Given the description of an element on the screen output the (x, y) to click on. 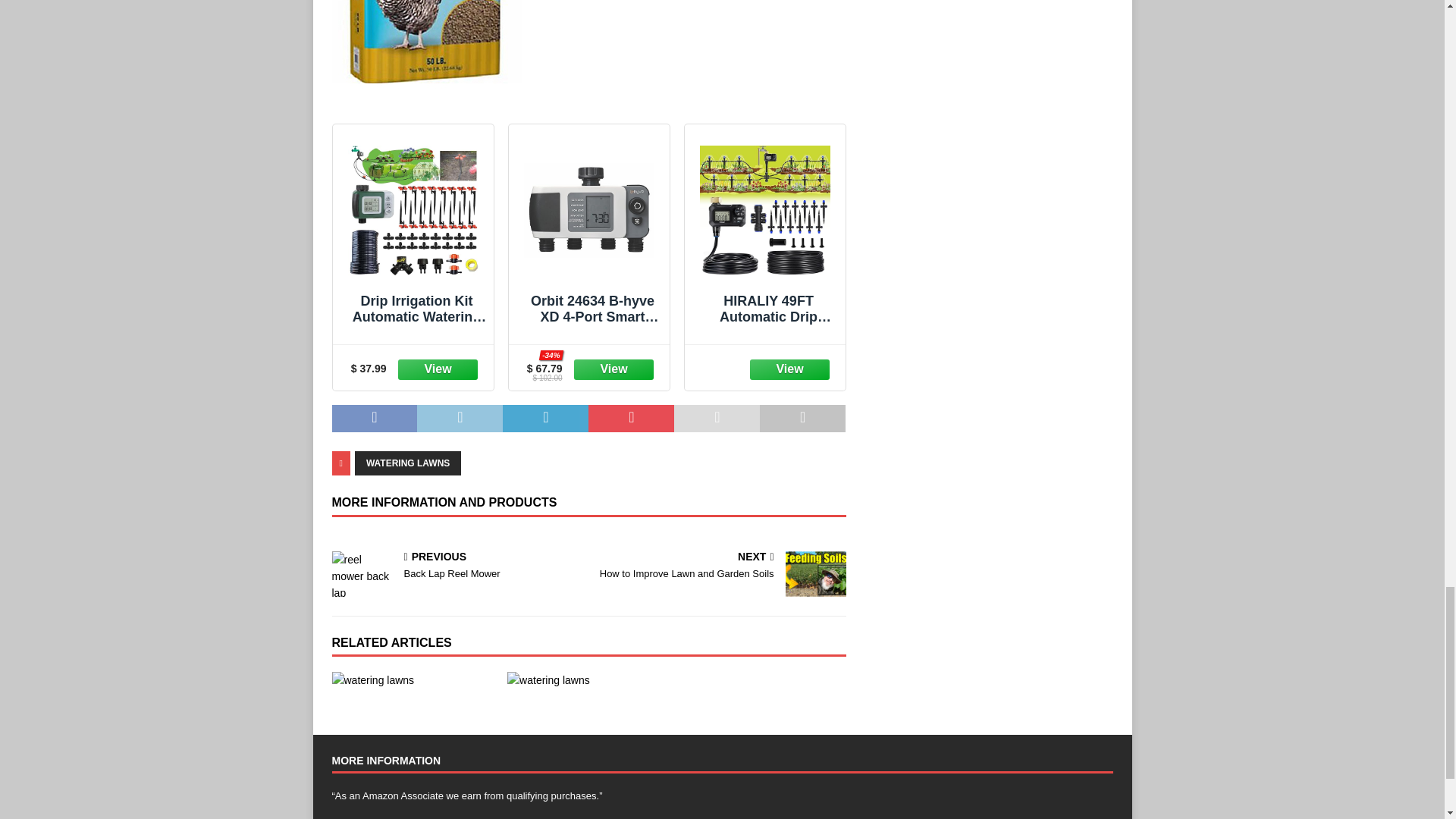
How to Water Lawns (587, 679)
How to Water Your Lawn (413, 679)
